Given the description of an element on the screen output the (x, y) to click on. 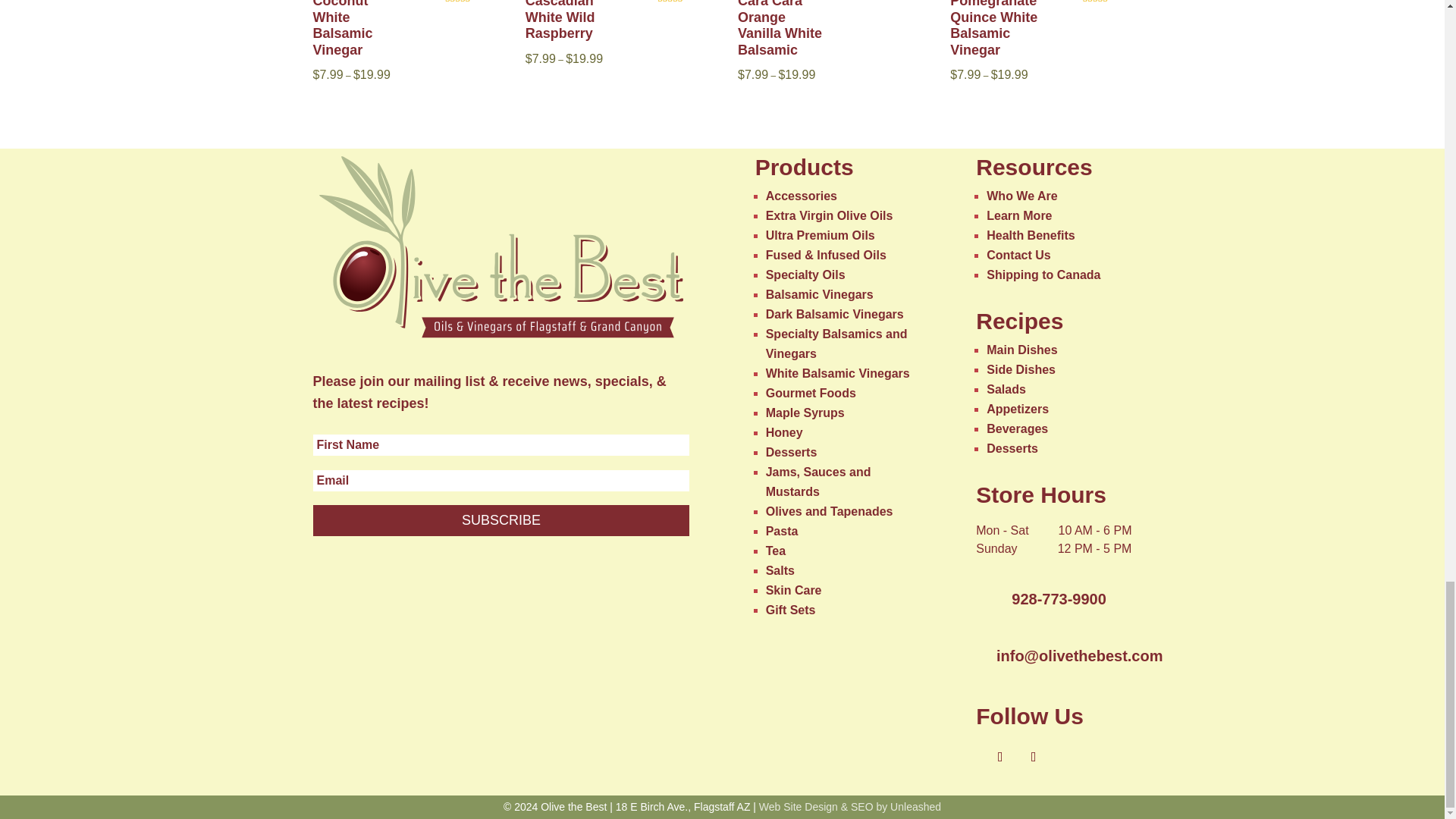
Follow on Facebook (1000, 756)
Follow on Instagram (1033, 756)
Olive the Best Logo (500, 247)
